Given the description of an element on the screen output the (x, y) to click on. 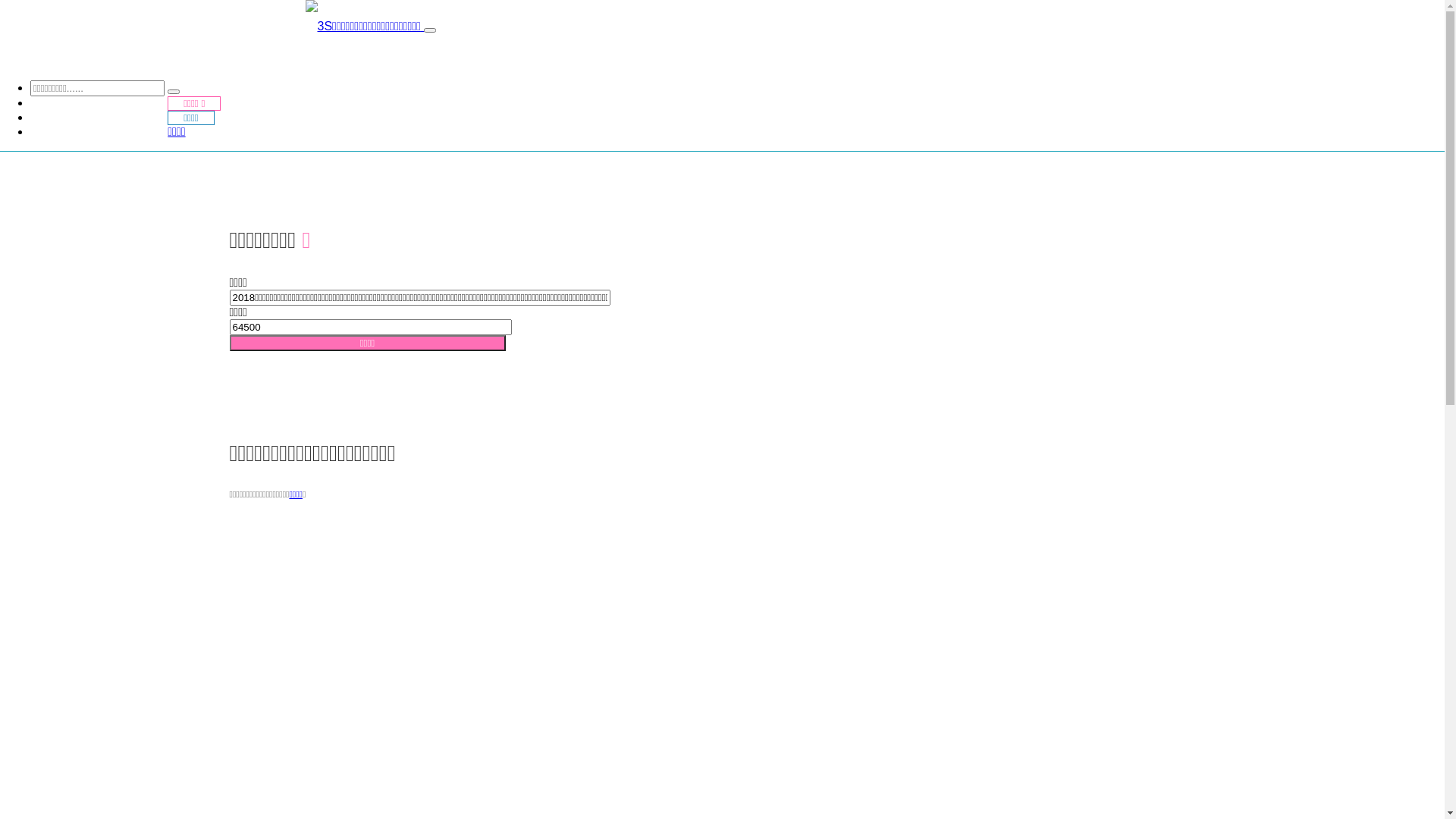
Advertisement Element type: hover (684, 620)
